Given the description of an element on the screen output the (x, y) to click on. 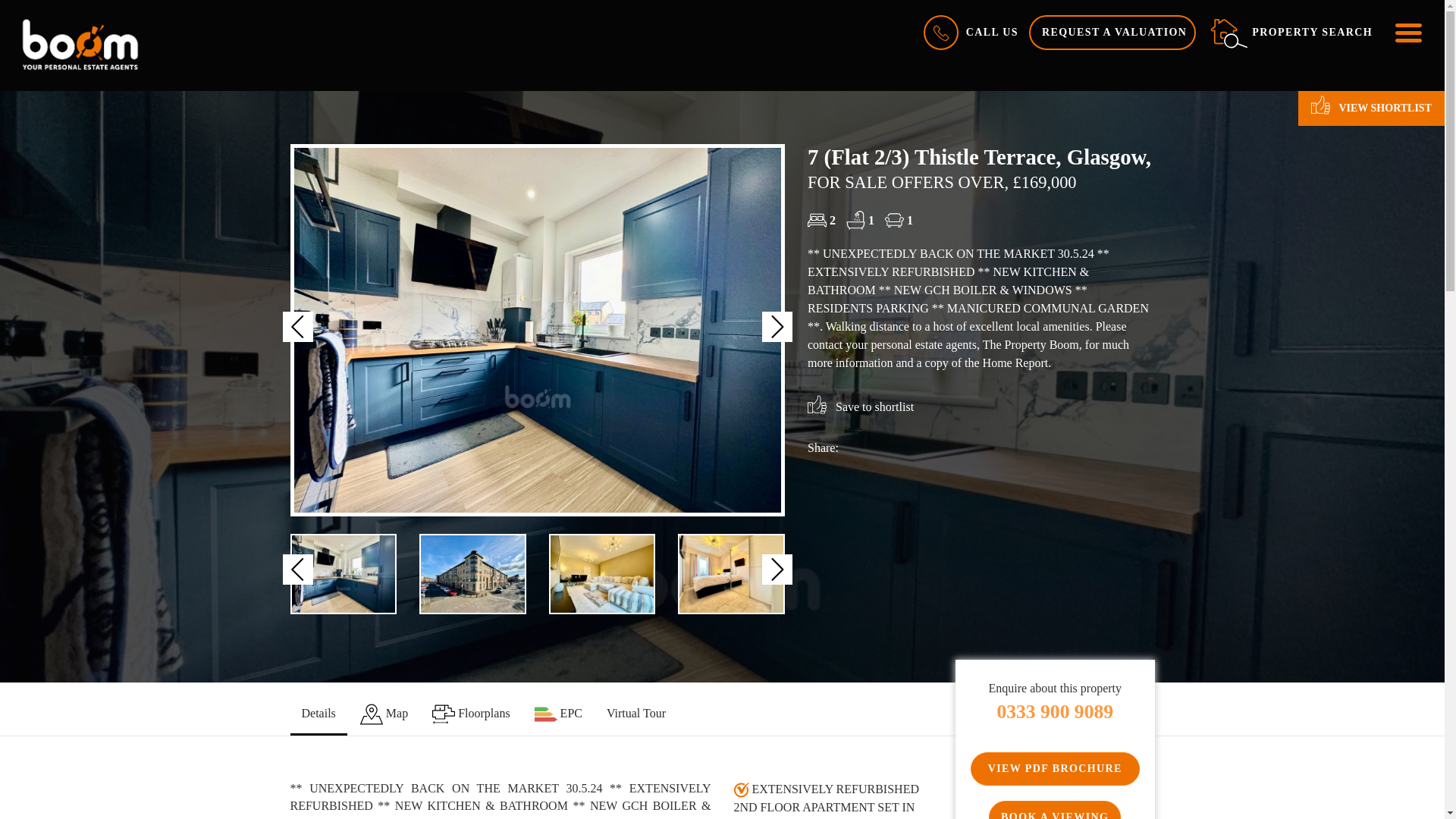
Previous (297, 327)
Next (776, 327)
PROPERTY SEARCH (1291, 31)
REQUEST A VALUATION (1112, 32)
Previous (297, 569)
CALL US (969, 31)
MENU (1406, 31)
Save to shortlist (861, 406)
Next (776, 569)
